Given the description of an element on the screen output the (x, y) to click on. 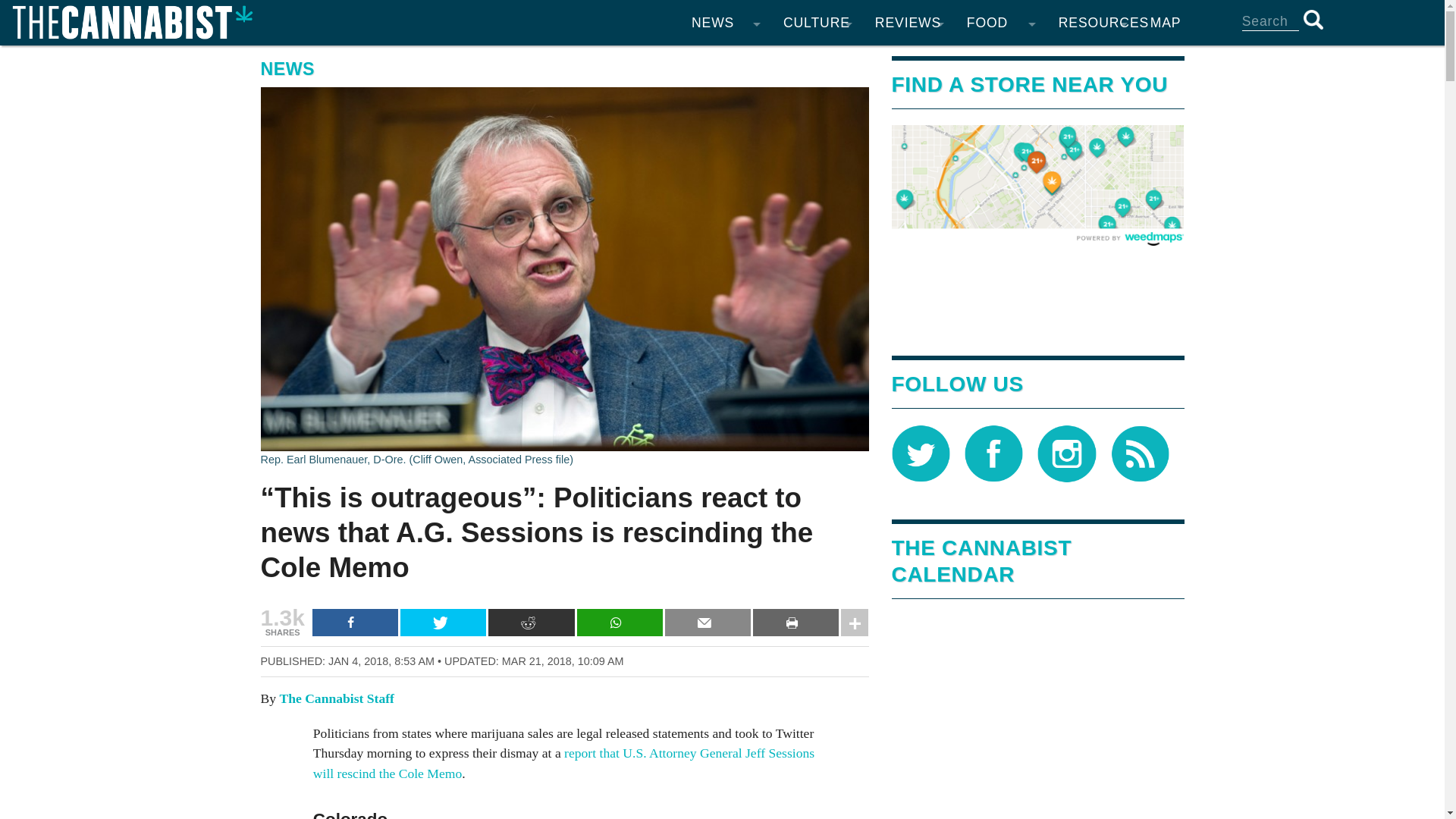
WORLD NEWS (725, 151)
View all posts in News (287, 68)
CRIME (725, 242)
Follow The Cannabist on Instagram (1066, 452)
2015 (633, 303)
COLORADO (725, 60)
US CULTURE (817, 242)
CULTURE (817, 22)
2016 (633, 272)
REVIEWS (909, 22)
